Given the description of an element on the screen output the (x, y) to click on. 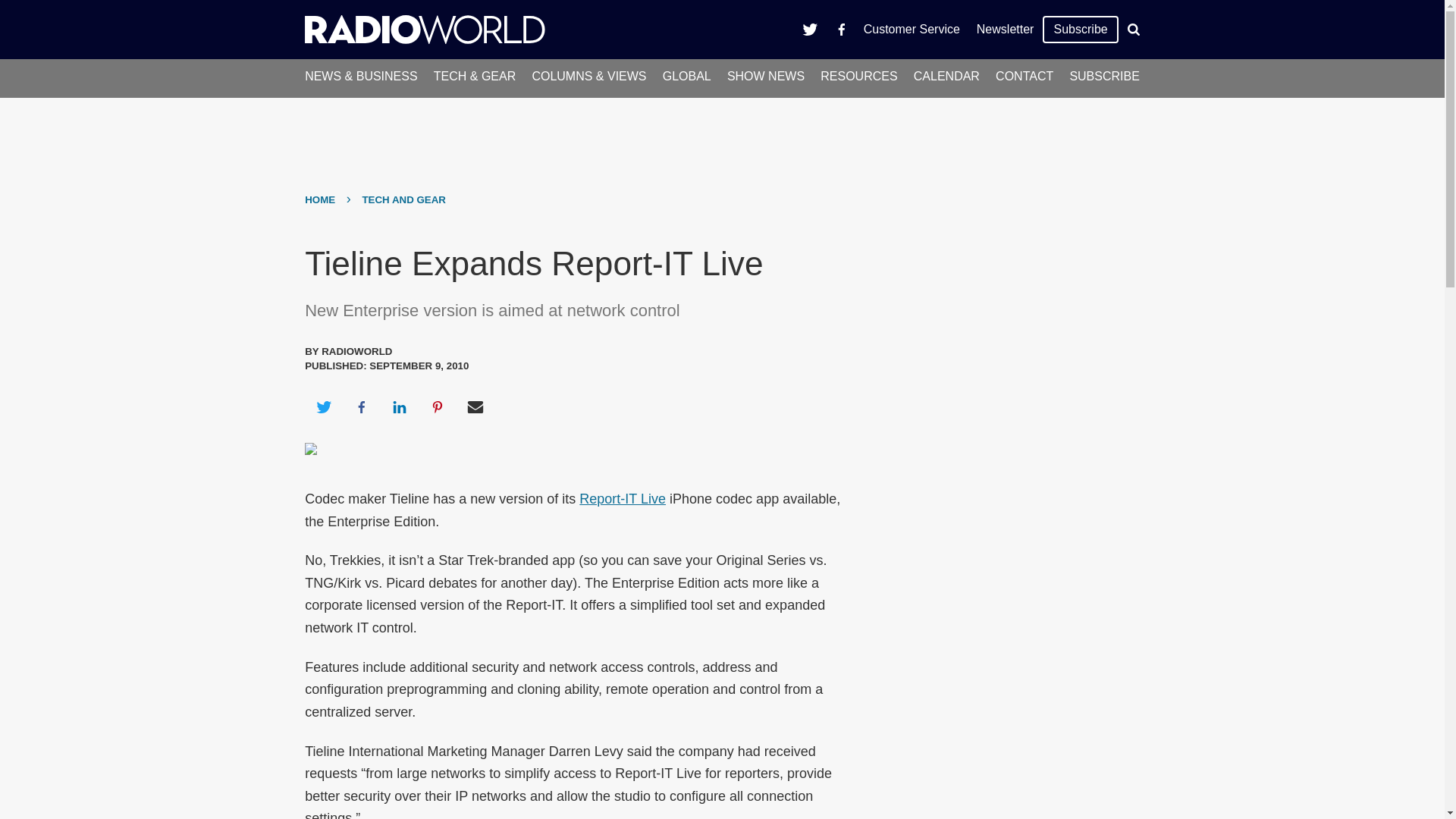
Customer Service (912, 29)
Share on Twitter (323, 406)
Share on Pinterest (438, 406)
Share on LinkedIn (399, 406)
Share via Email (476, 406)
Share on Facebook (361, 406)
